Given the description of an element on the screen output the (x, y) to click on. 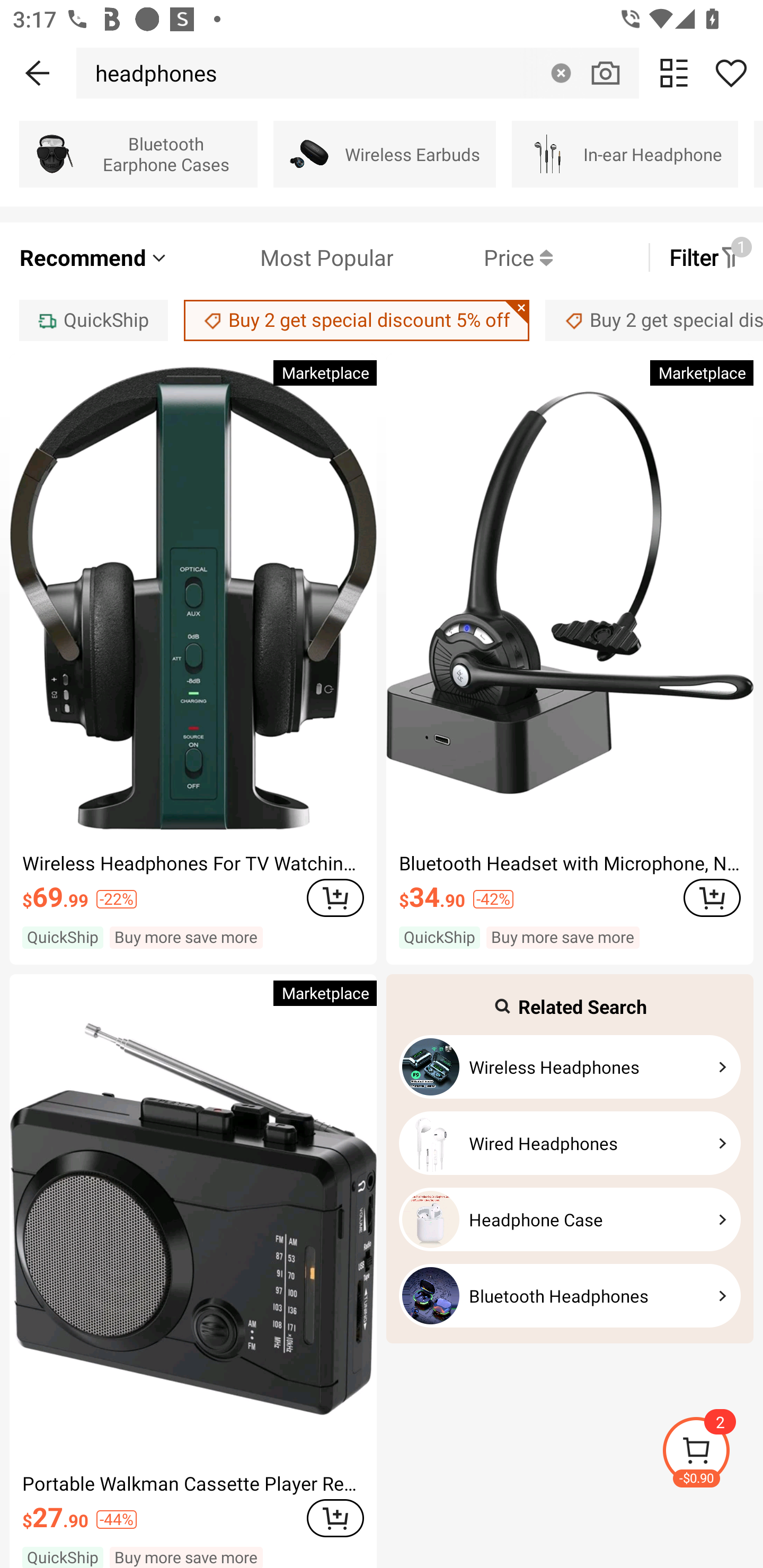
headphones (151, 72)
Clear (560, 72)
change view (673, 72)
Share (730, 72)
Bluetooth Earphone Cases (138, 154)
Wireless Earbuds (384, 154)
In-ear Headphone (624, 154)
Recommend (94, 256)
Most Popular (280, 256)
Price (472, 256)
Filter 1 (705, 256)
QuickShip (93, 320)
Buy 2 get special discount 5% off (356, 320)
Buy 2 get special discount 5% off (654, 320)
ADD TO CART (334, 897)
ADD TO CART (711, 897)
Wireless Headphones (569, 1066)
Wired Headphones (569, 1142)
Headphone Case (569, 1218)
Bluetooth Headphones (569, 1295)
-$0.90 (712, 1452)
ADD TO CART (334, 1517)
